Given the description of an element on the screen output the (x, y) to click on. 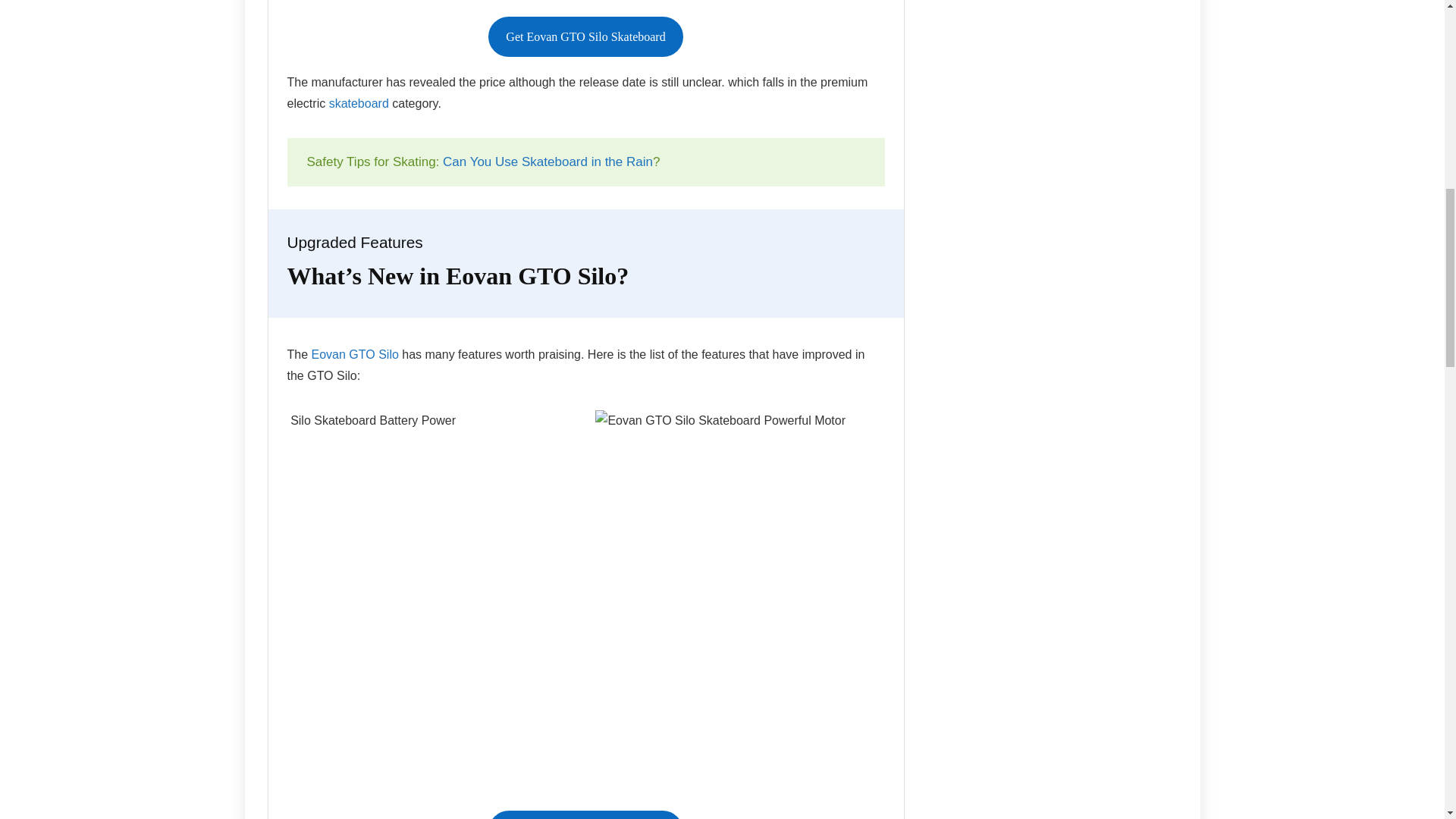
Get Eovan GTO Silo Skateboard (584, 814)
Eovan GTO Silo (354, 354)
Can You Use Skateboard in the Rain (547, 161)
Get Eovan GTO Silo Skateboard (584, 36)
Skateboards (358, 103)
skateboard (358, 103)
